Given the description of an element on the screen output the (x, y) to click on. 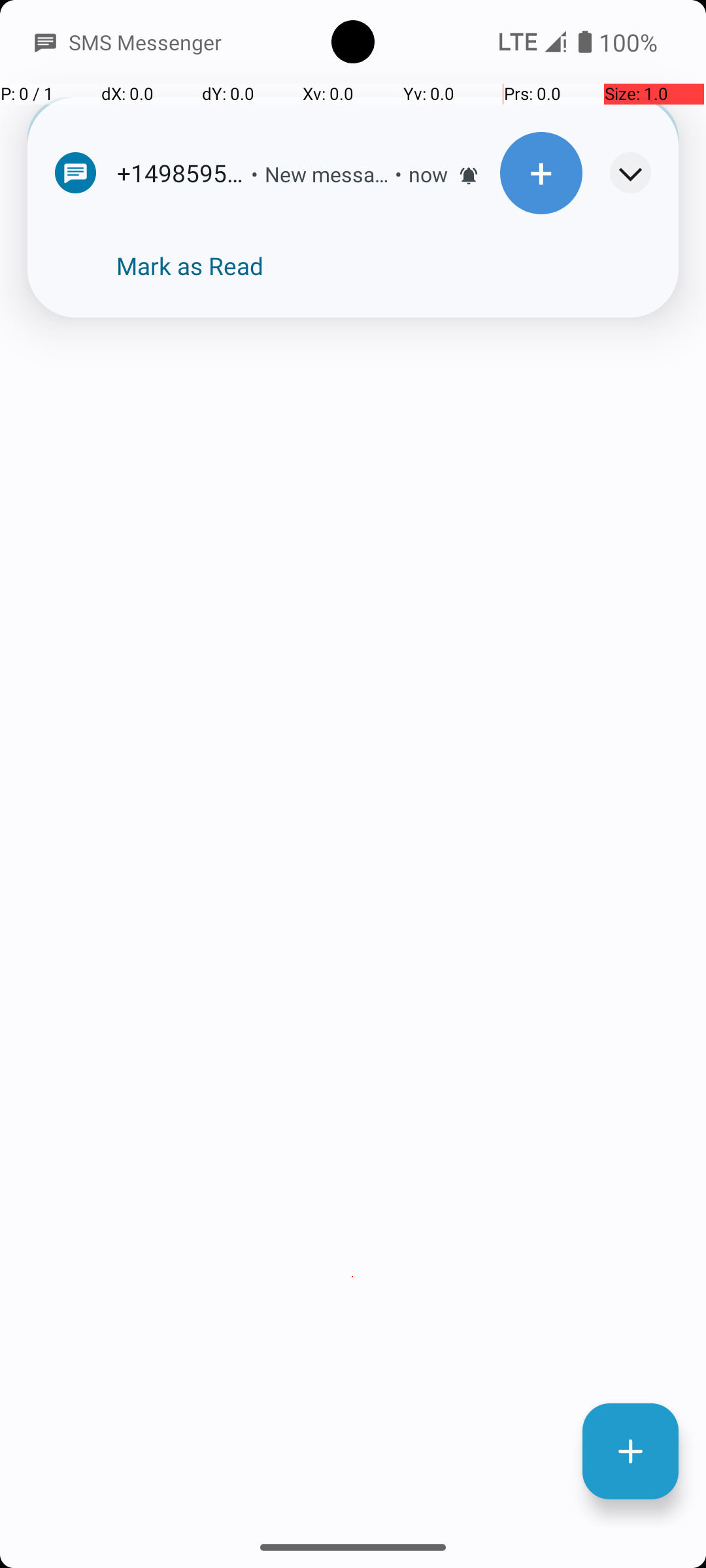
+14985954673 Element type: android.widget.TextView (408, 237)
The early bird catches the worm. Element type: android.widget.TextView (408, 266)
Mark as Read Element type: android.widget.Button (189, 265)
• Element type: android.widget.TextView (254, 174)
New message Element type: android.widget.TextView (326, 174)
now Element type: android.widget.TextView (427, 174)
Alerted Element type: android.widget.ImageView (468, 175)
